Given the description of an element on the screen output the (x, y) to click on. 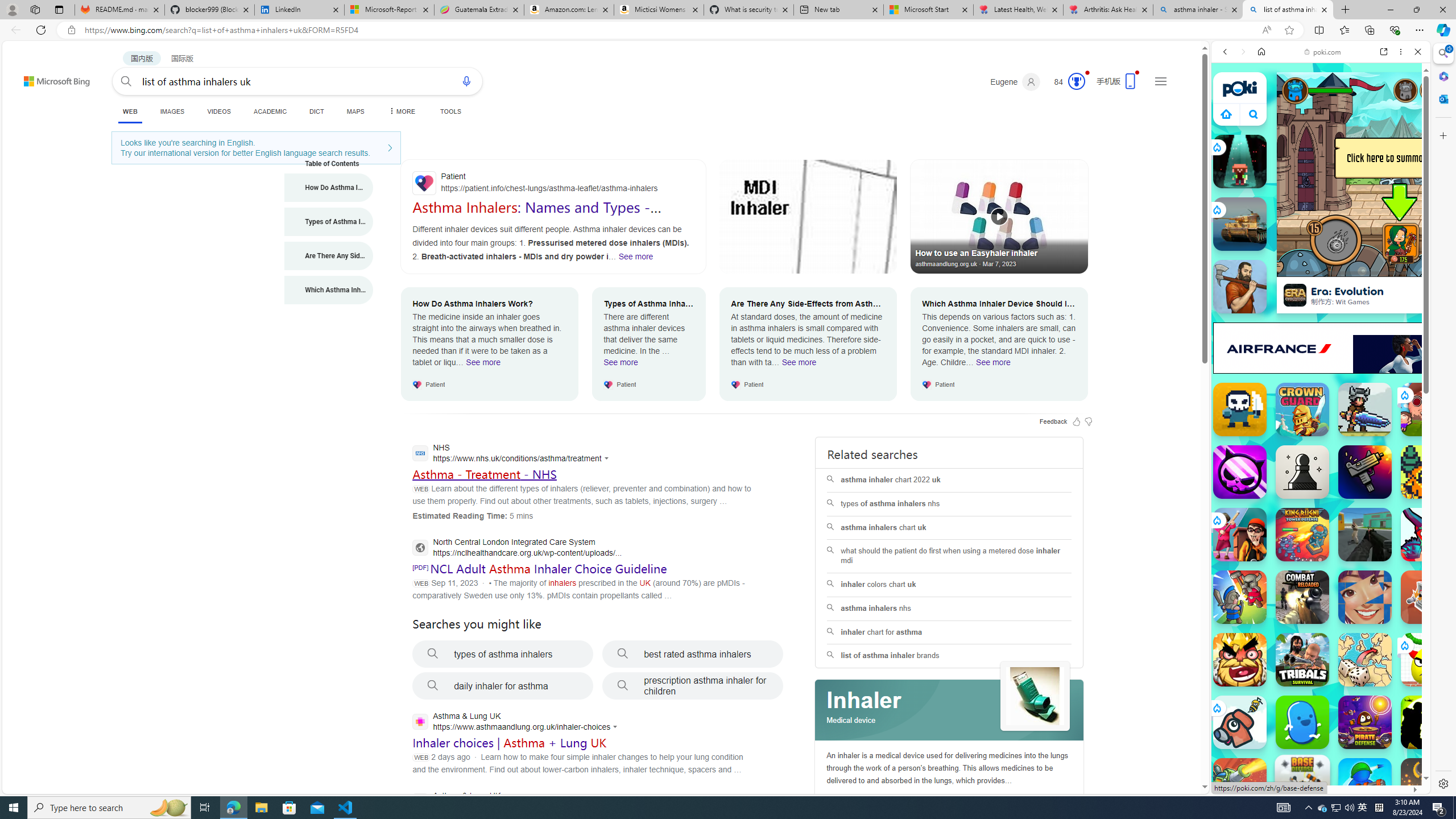
WEB   (1230, 130)
Crown Guard Crown Guard (1302, 409)
Funny Shooter 2 (1427, 534)
World Conquest (1364, 659)
Patient (553, 182)
Show More Games for Girls (1390, 407)
asthma inhaler - Search (1197, 9)
Quivershot Quivershot (1239, 161)
School Escape! School Escape! (1239, 534)
